Given the description of an element on the screen output the (x, y) to click on. 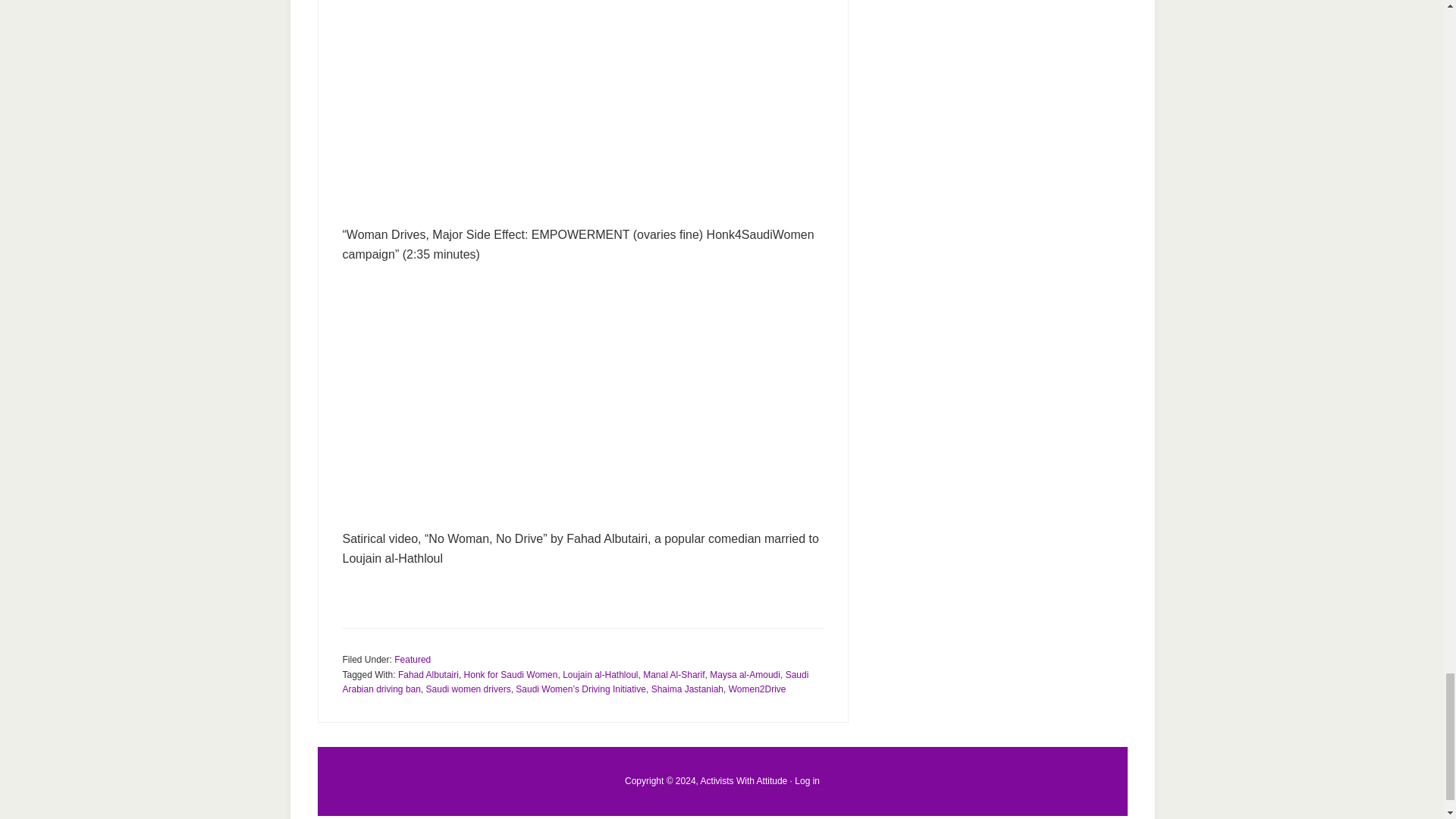
Shaima Jastaniah (686, 688)
Loujain al-Hathloul (599, 674)
Featured (412, 659)
Maysa al-Amoudi (745, 674)
Saudi women drivers (468, 688)
Women2Drive (757, 688)
Manal Al-Sharif (673, 674)
Honk for Saudi Women (510, 674)
Log in (806, 780)
Fahad Albutairi (427, 674)
